Given the description of an element on the screen output the (x, y) to click on. 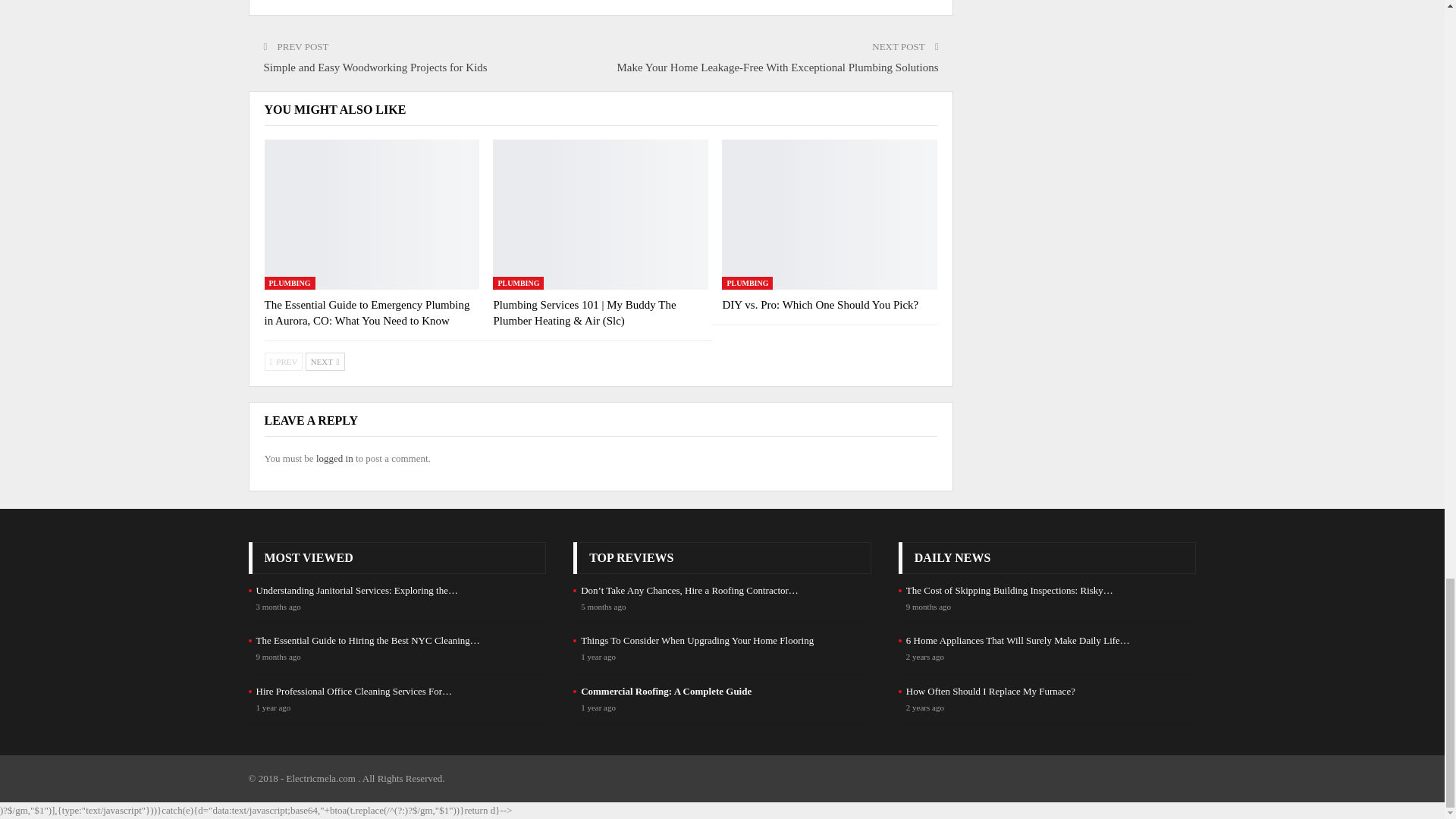
Simple and Easy Woodworking Projects for Kids (375, 67)
PLUMBING (518, 282)
YOU MIGHT ALSO LIKE (334, 109)
PLUMBING (288, 282)
